Given the description of an element on the screen output the (x, y) to click on. 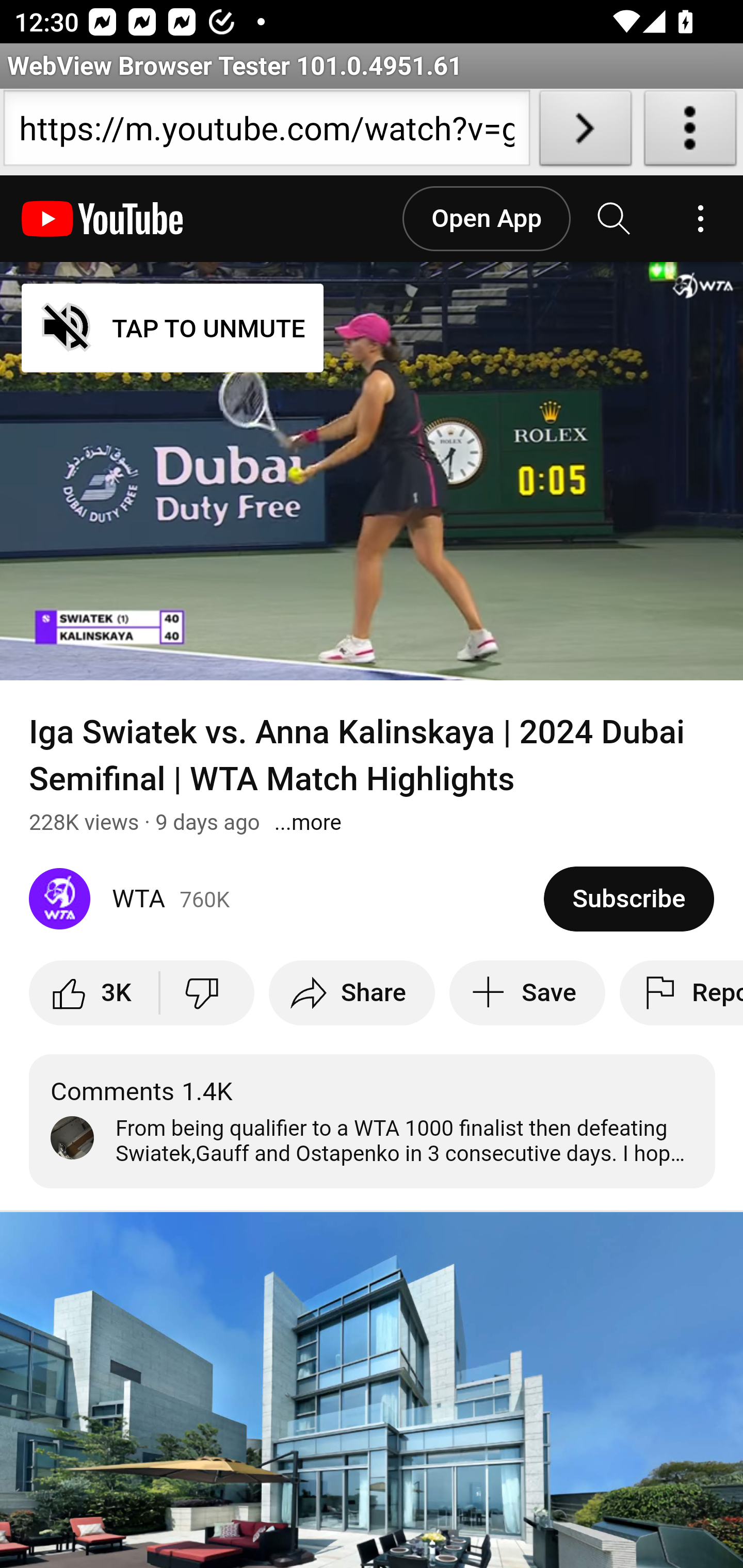
https://m.youtube.com/watch?v=gXV_x0-JzNM (266, 132)
Load URL (585, 132)
About WebView (690, 132)
YouTube (102, 219)
Search YouTube (614, 219)
Account (700, 219)
Open App (485, 218)
YouTube Video Player TAP TO UNMUTE (371, 470)
TAP TO UNMUTE (173, 328)
Show more (307, 822)
Subscribe to WTA. (627, 898)
WTA (286, 899)
like this video along with 3,088 other people (94, 992)
Dislike this video (206, 992)
Share (351, 992)
Save to playlist (527, 992)
Report (680, 992)
Comments (372, 1121)
